Given the description of an element on the screen output the (x, y) to click on. 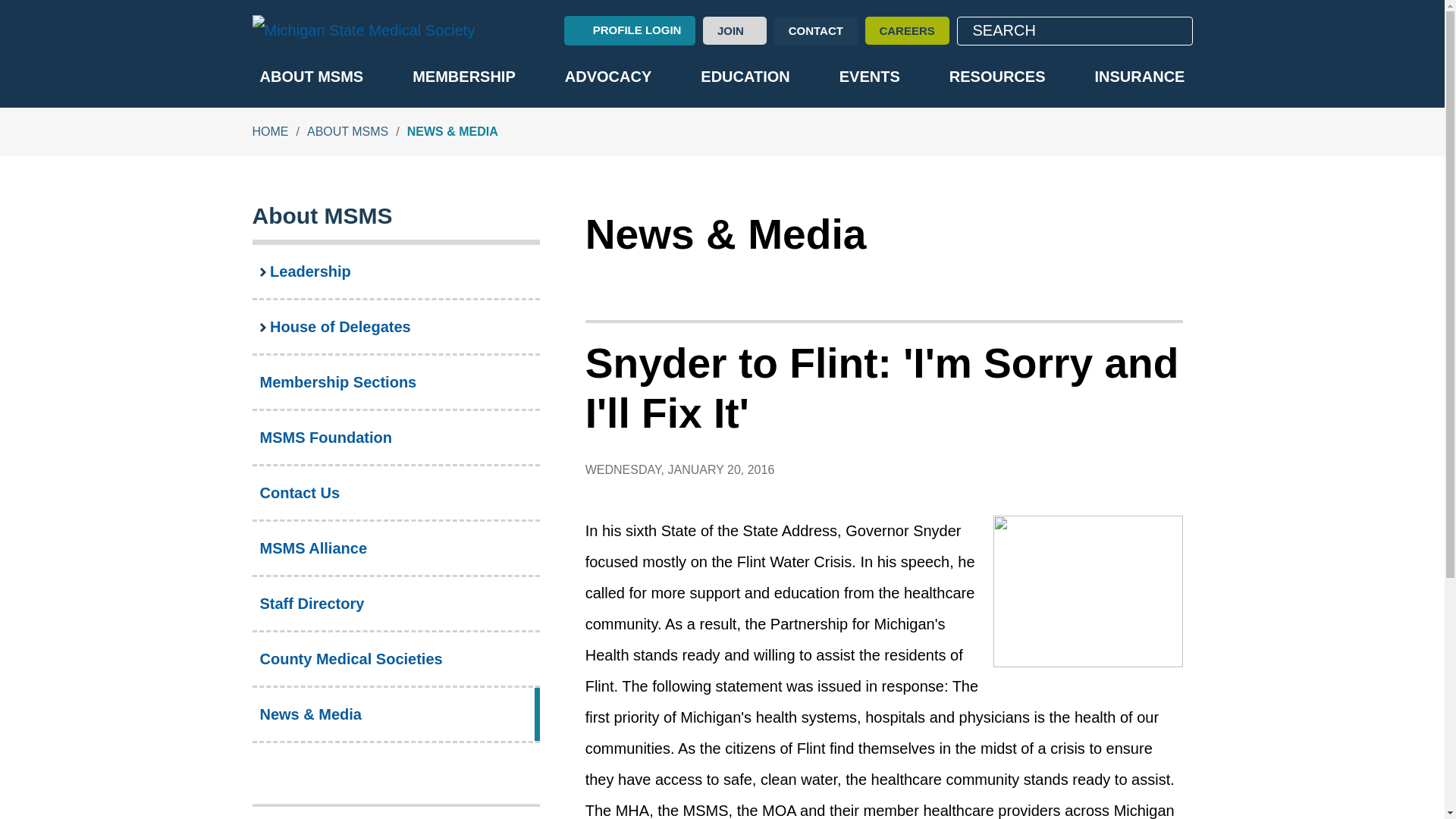
ABOUT MSMS (347, 131)
CONTACT (815, 30)
About MSMS (321, 215)
MEMBERSHIP (463, 76)
EVENTS (869, 76)
Submit (1170, 30)
RESOURCES (997, 76)
CAREERS (906, 30)
Michigan State Medical Society (362, 30)
House of Delegates (394, 326)
